Given the description of an element on the screen output the (x, y) to click on. 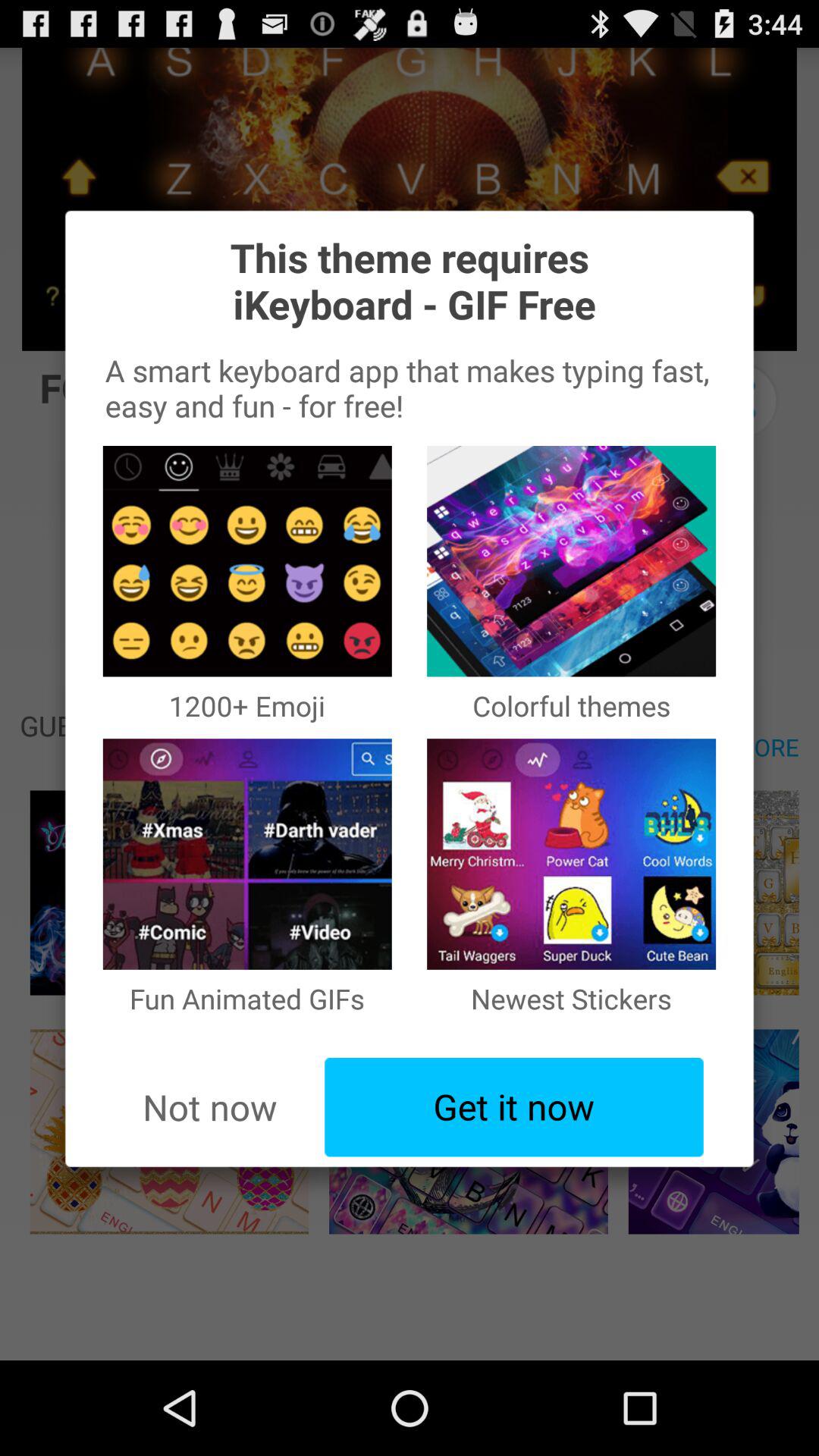
turn off icon at the bottom (513, 1106)
